Given the description of an element on the screen output the (x, y) to click on. 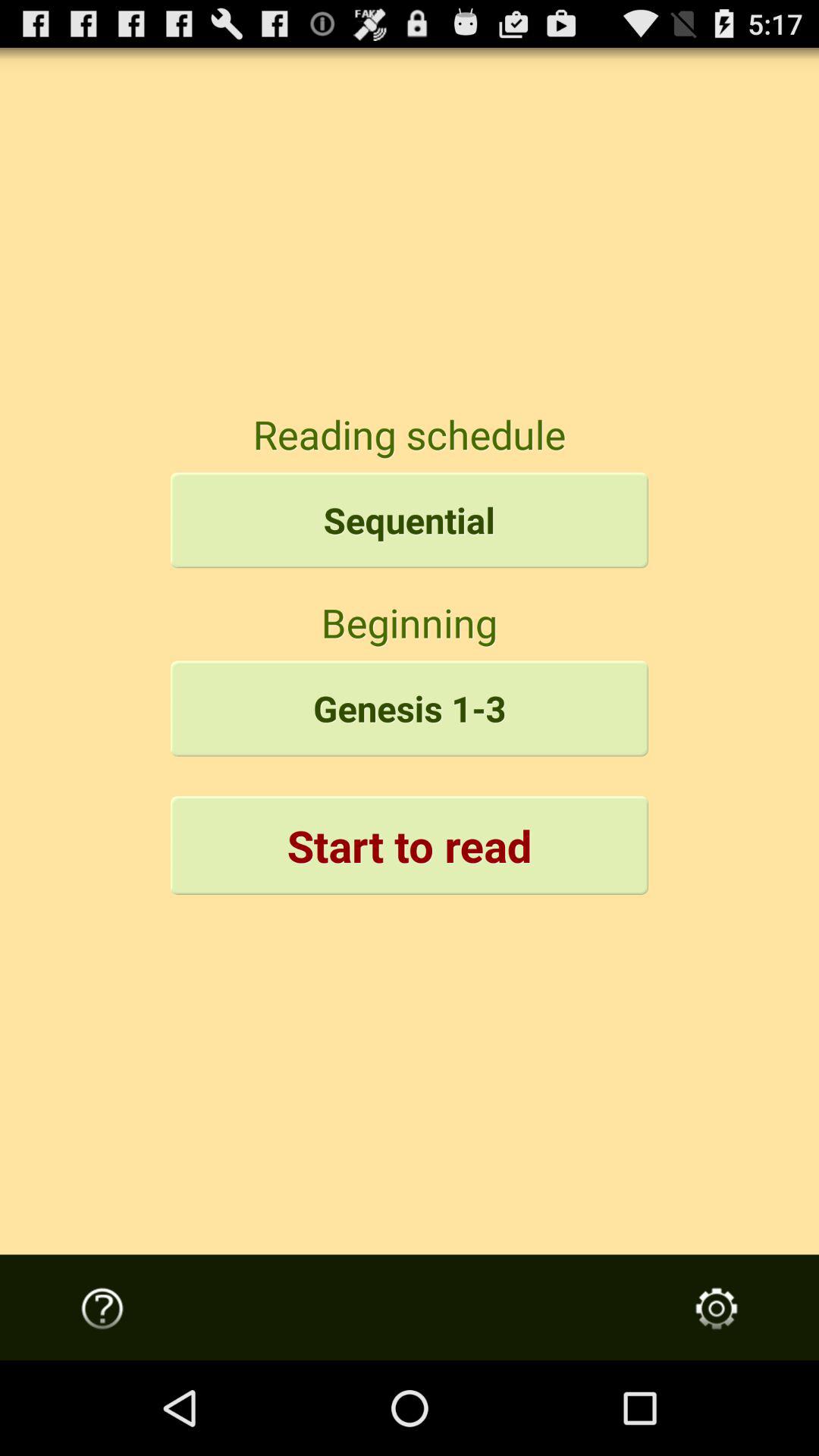
click app below the beginning app (409, 708)
